Given the description of an element on the screen output the (x, y) to click on. 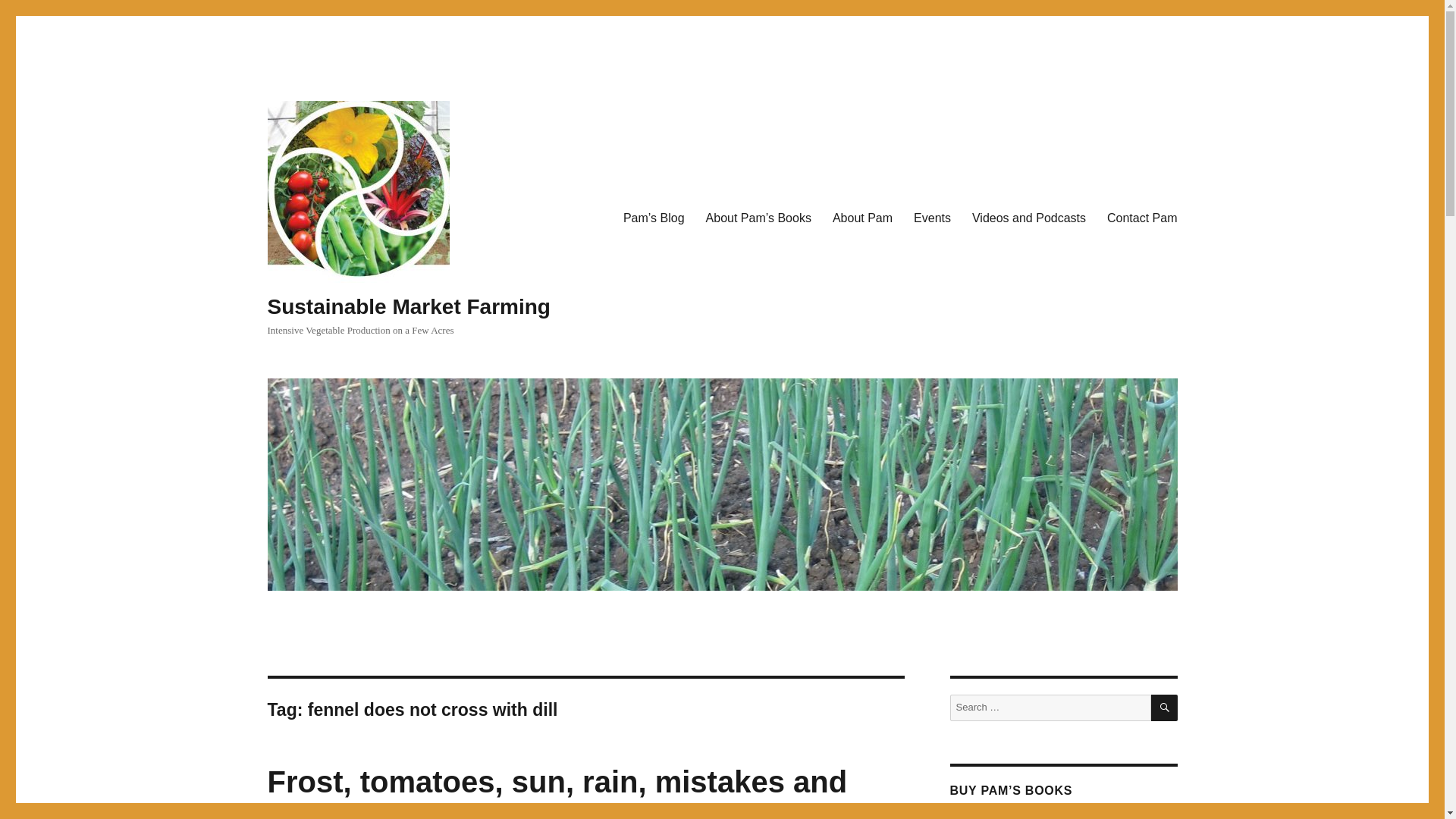
About Pam (862, 218)
Sustainable Market Farming (408, 306)
Videos and Podcasts (1028, 218)
Frost, tomatoes, sun, rain, mistakes and future events (556, 791)
Contact Pam (1142, 218)
Events (931, 218)
